Given the description of an element on the screen output the (x, y) to click on. 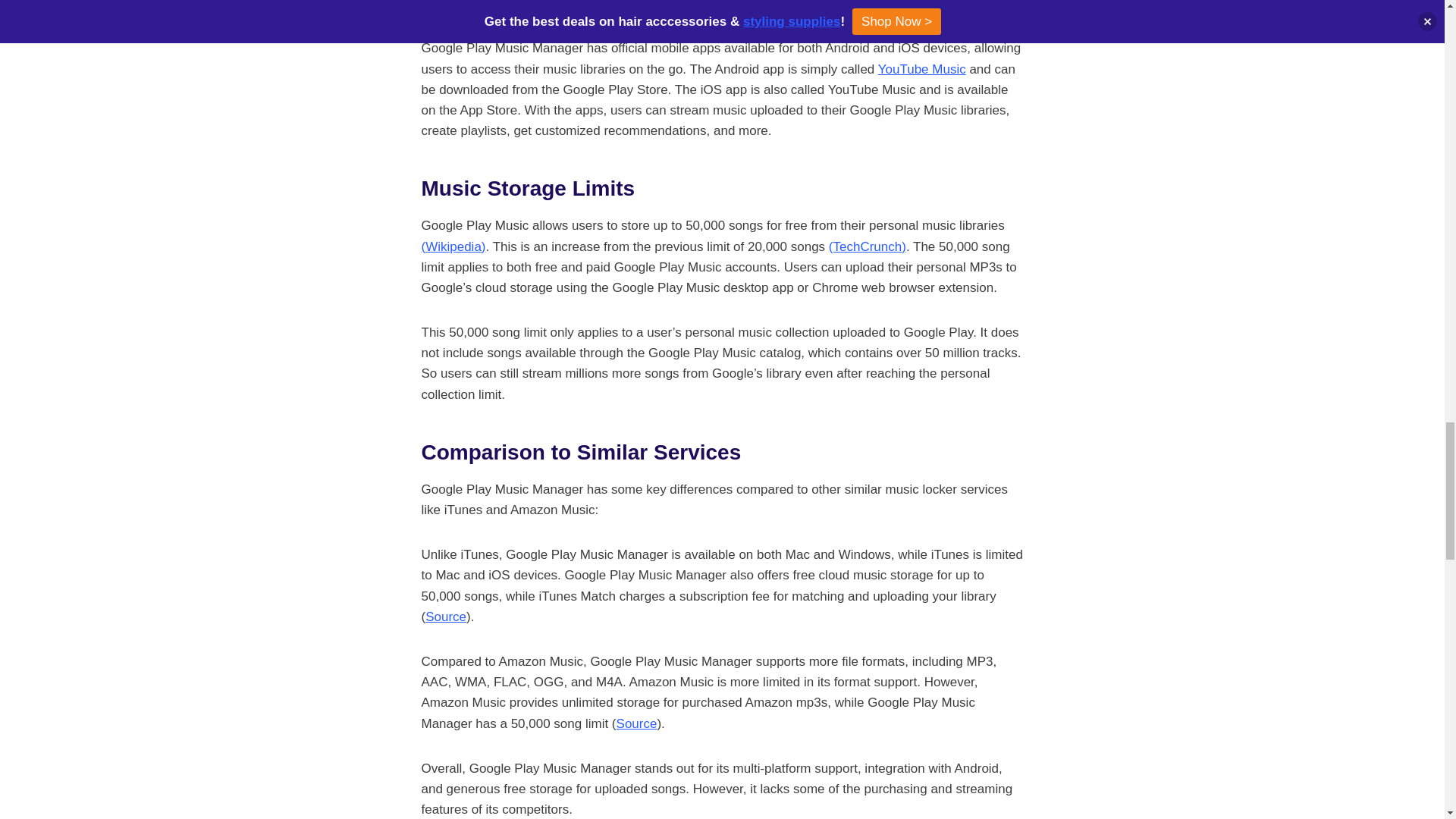
Source (636, 723)
YouTube Music (921, 69)
Source (445, 616)
